Given the description of an element on the screen output the (x, y) to click on. 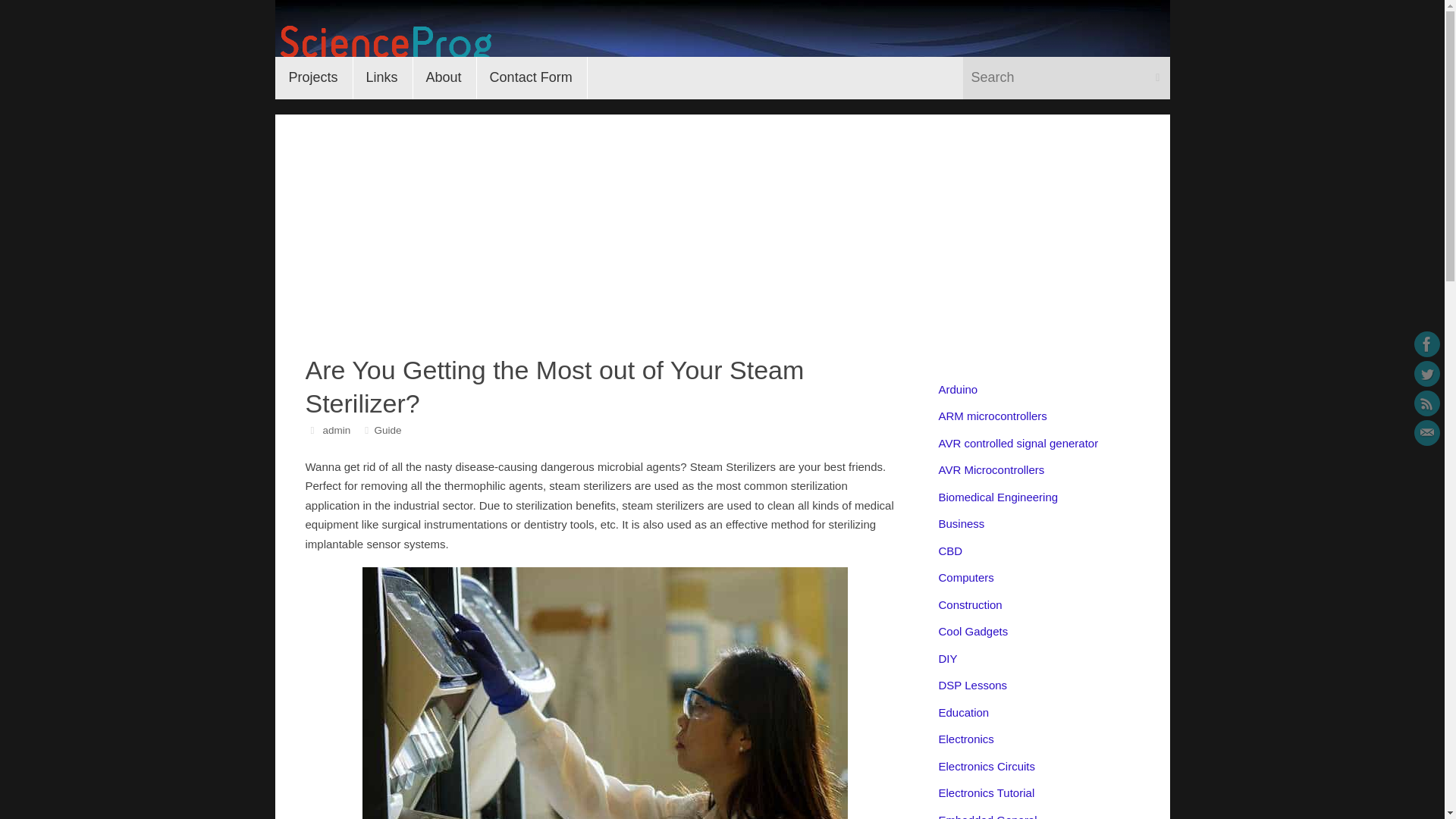
Do It Easy With ScienceProg (722, 33)
CBD (950, 550)
ARM microcontrollers (992, 415)
3rd party ad content (998, 38)
Cool Gadgets (974, 631)
Education (964, 712)
Categories (366, 430)
Feedburner (1426, 403)
View all posts by admin (335, 430)
AVR Microcontrollers (992, 469)
